Given the description of an element on the screen output the (x, y) to click on. 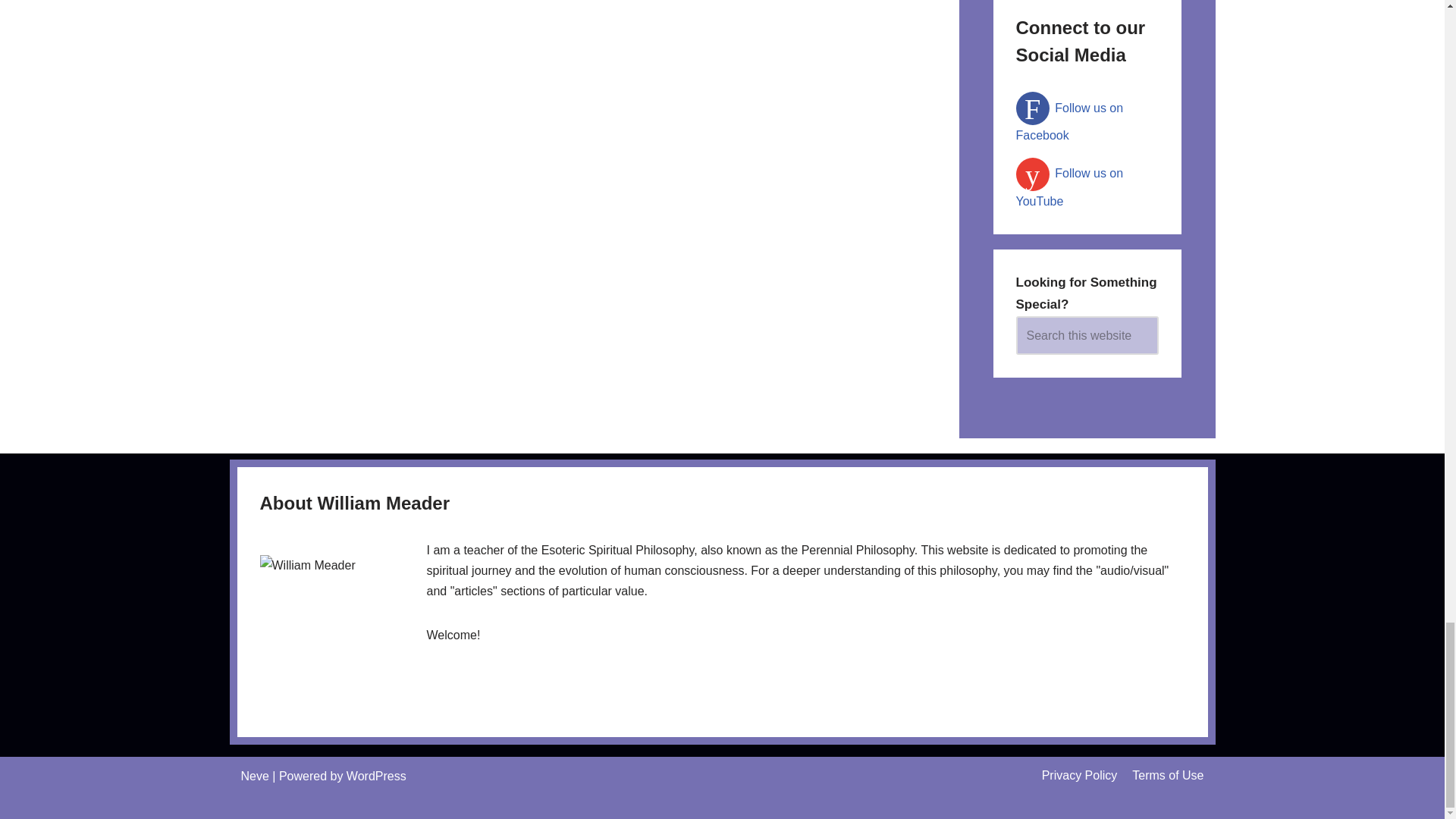
YouTube (1070, 187)
Facebook (1070, 121)
